Given the description of an element on the screen output the (x, y) to click on. 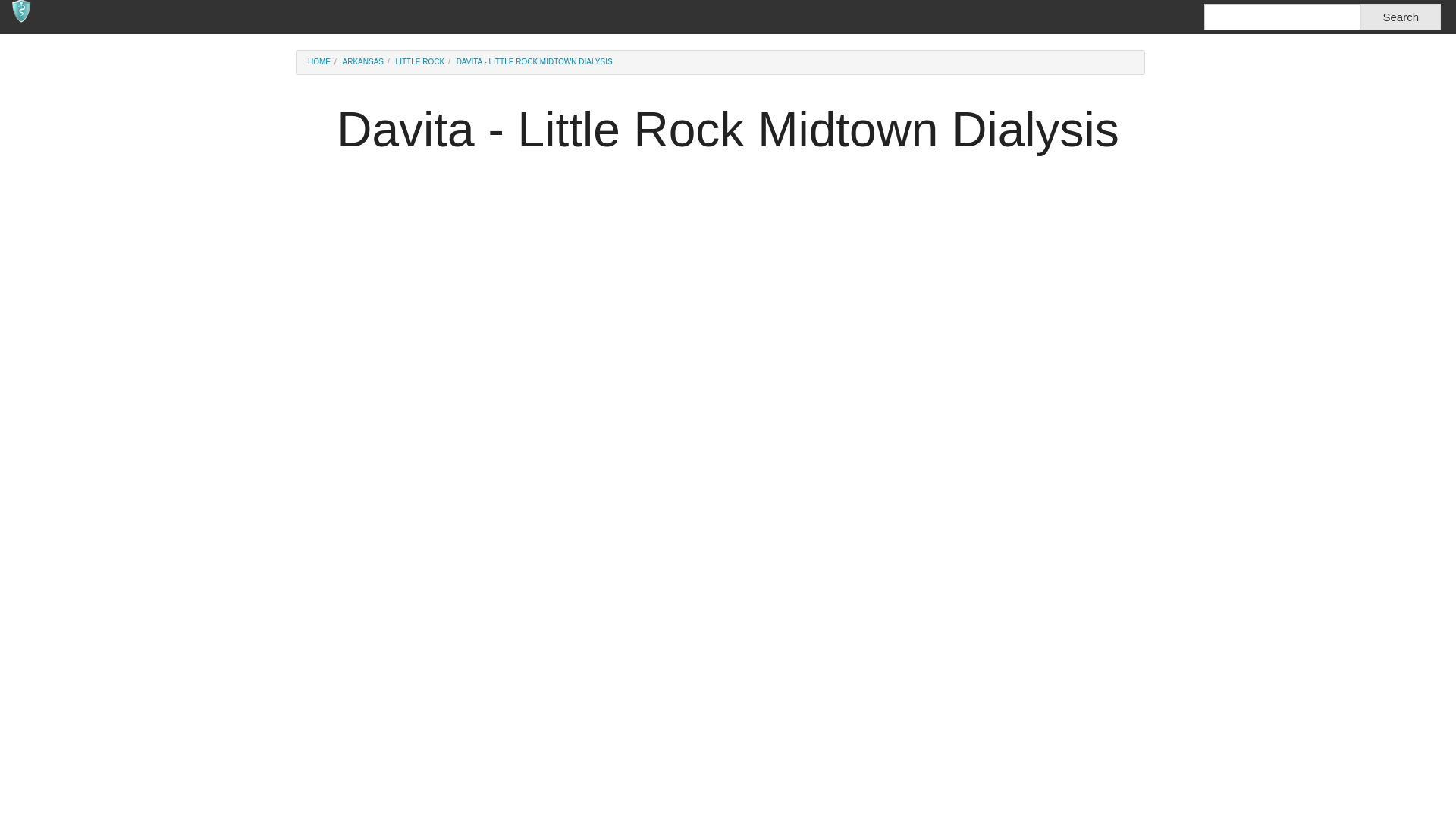
HOME (318, 61)
Search (1400, 17)
Little Rock, Arkansas Dialysis Providers (420, 61)
Local Dialysis Providers (89, 17)
ARKANSAS (363, 61)
LITTLE ROCK (420, 61)
Dialysis Providers (318, 61)
Davita - Little Rock Midtown Dialysis (534, 61)
DAVITA - LITTLE ROCK MIDTOWN DIALYSIS (534, 61)
Arkansas Dialysis Providers (363, 61)
Search (1400, 17)
